Given the description of an element on the screen output the (x, y) to click on. 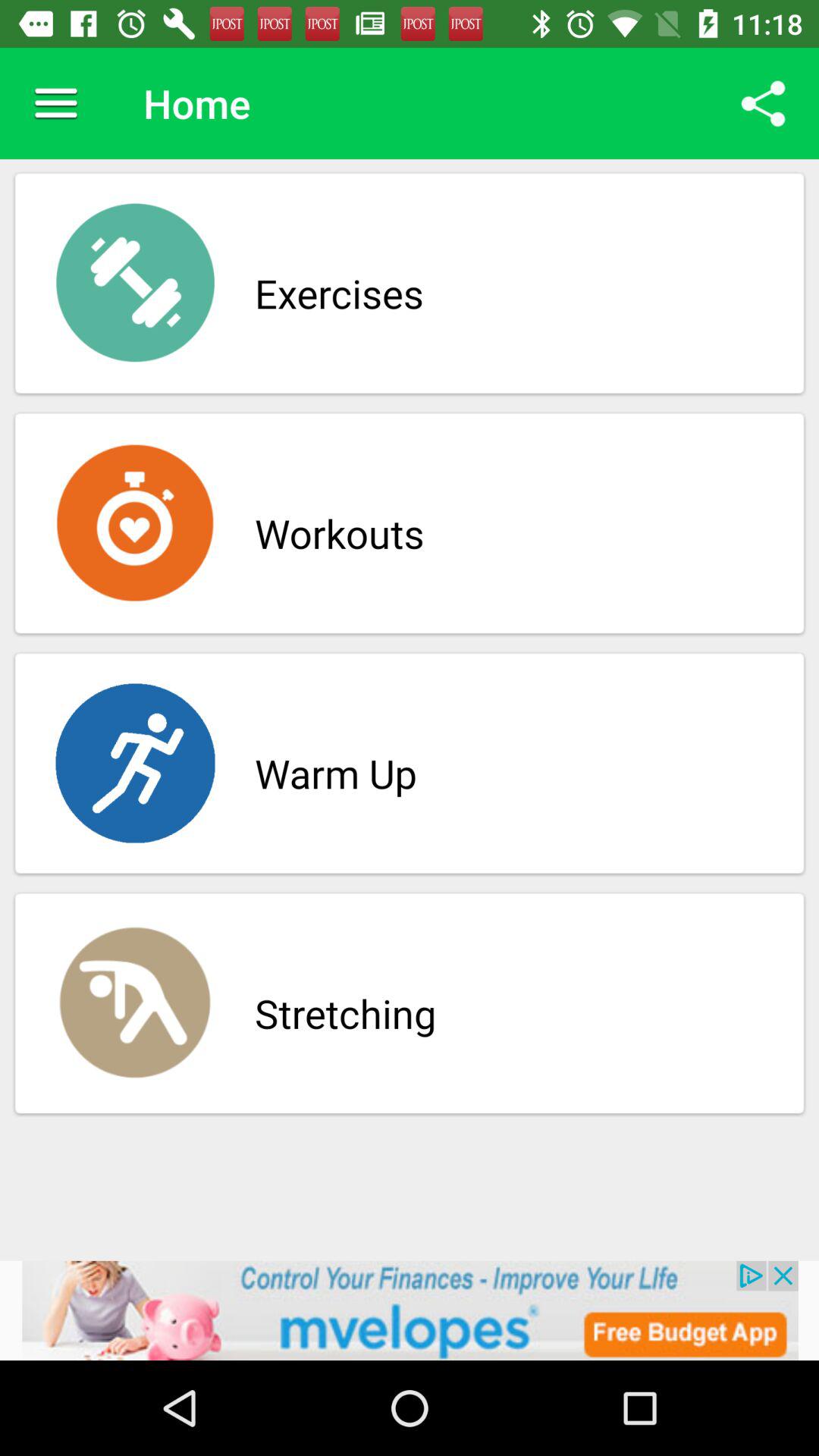
view advertisement (409, 1310)
